Given the description of an element on the screen output the (x, y) to click on. 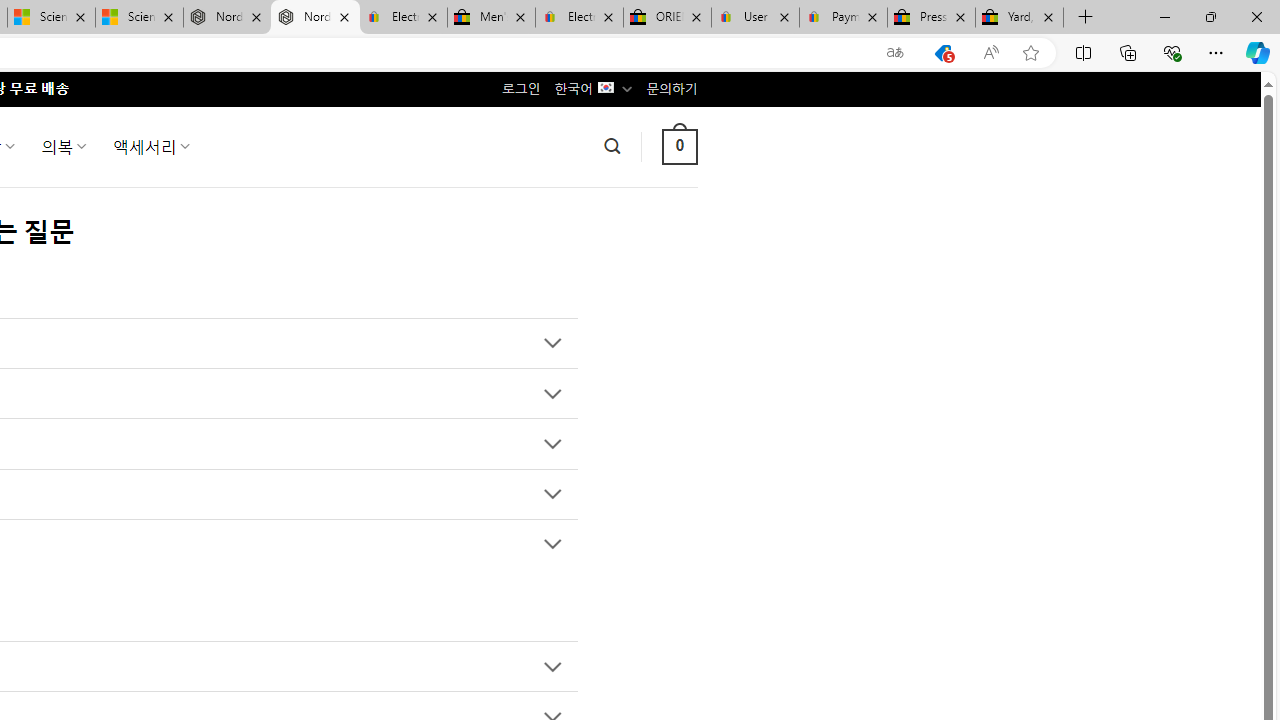
  0   (679, 146)
Show translate options (895, 53)
Nordace - FAQ (315, 17)
Press Room - eBay Inc. (931, 17)
